Given the description of an element on the screen output the (x, y) to click on. 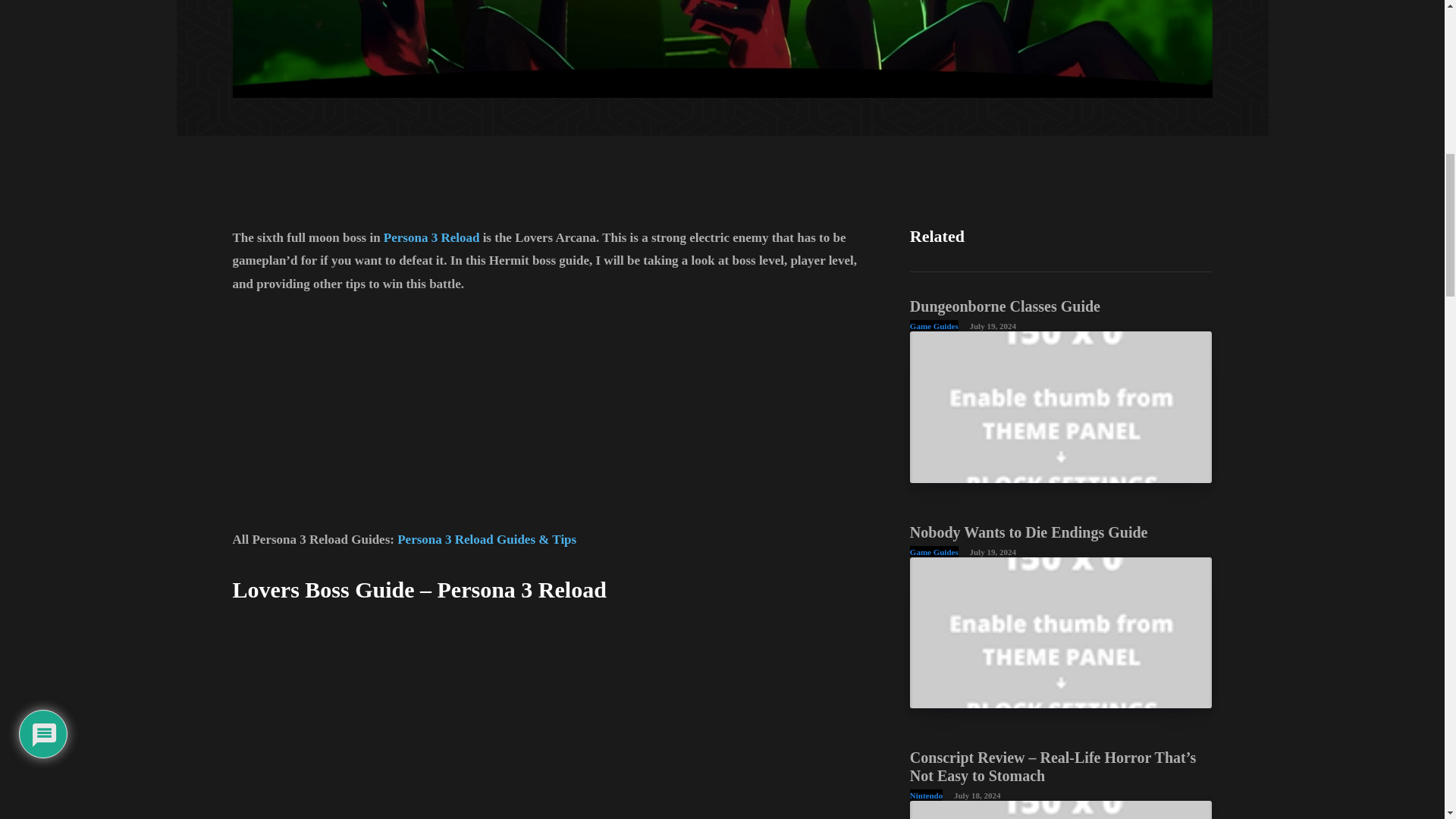
Nobody Wants to Die Endings Guide (1029, 532)
Game Guides (934, 325)
Game Guides (934, 551)
Nobody Wants to Die Endings Guide (1061, 632)
Nobody Wants to Die Endings Guide (1029, 532)
Dungeonborne Classes Guide (1005, 306)
Dungeonborne Classes Guide (1005, 306)
Dungeonborne Classes Guide (1061, 406)
Persona 3 Reload (432, 237)
